Given the description of an element on the screen output the (x, y) to click on. 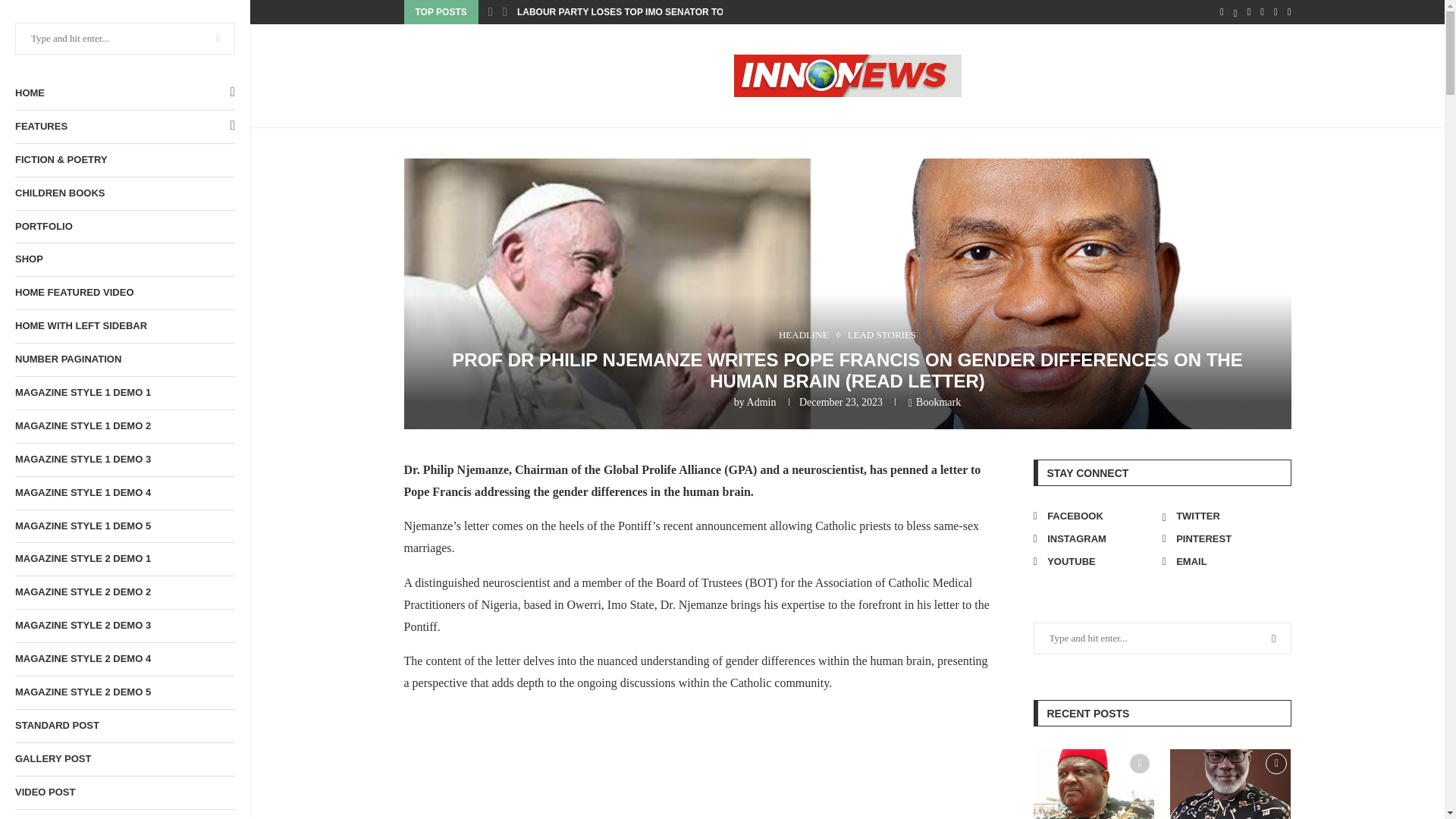
HOME (124, 92)
